Given the description of an element on the screen output the (x, y) to click on. 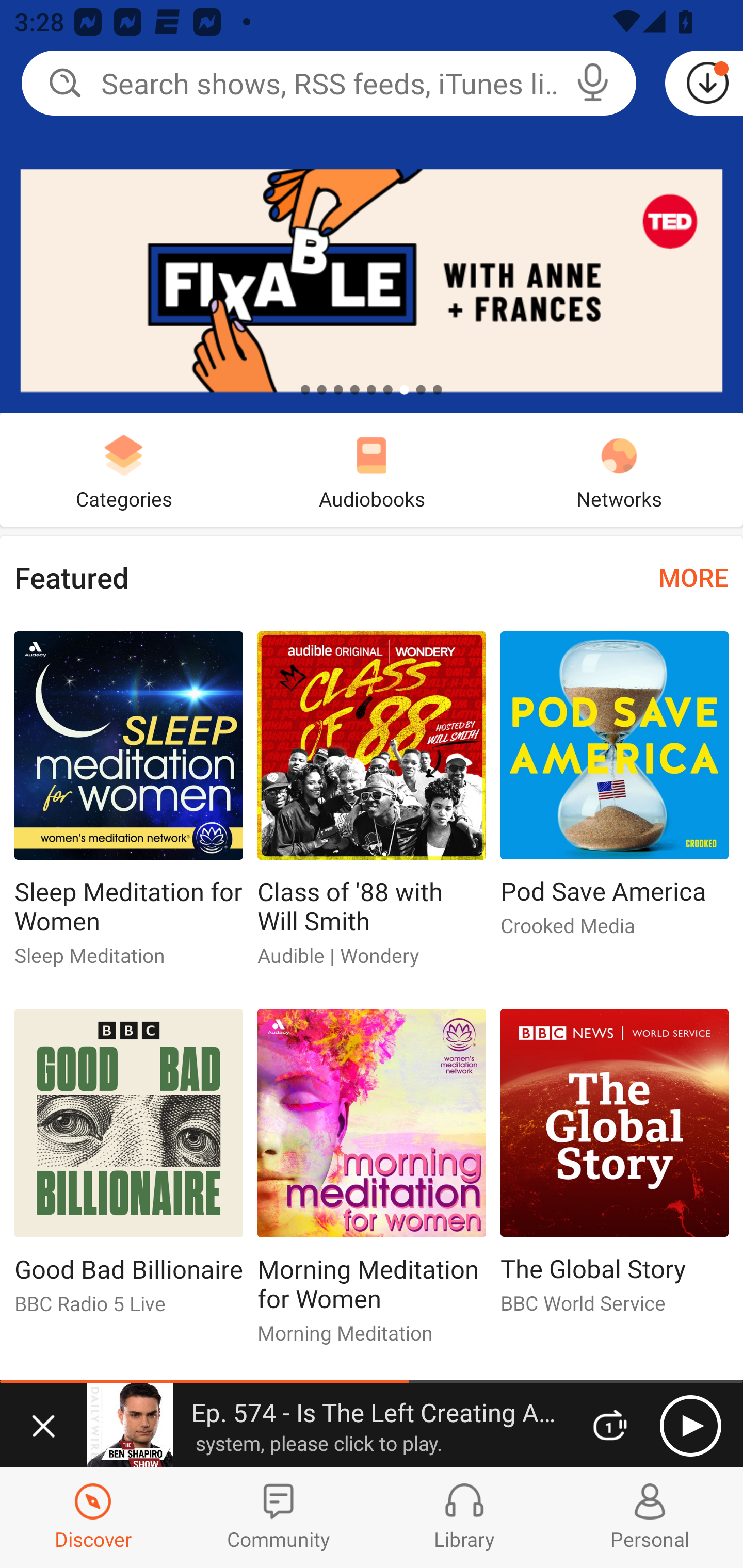
Fixable (371, 206)
Categories (123, 469)
Audiobooks (371, 469)
Networks (619, 469)
MORE (693, 576)
Pod Save America Pod Save America Crooked Media (614, 792)
Play (690, 1425)
Discover (92, 1517)
Community (278, 1517)
Library (464, 1517)
Profiles and Settings Personal (650, 1517)
